Given the description of an element on the screen output the (x, y) to click on. 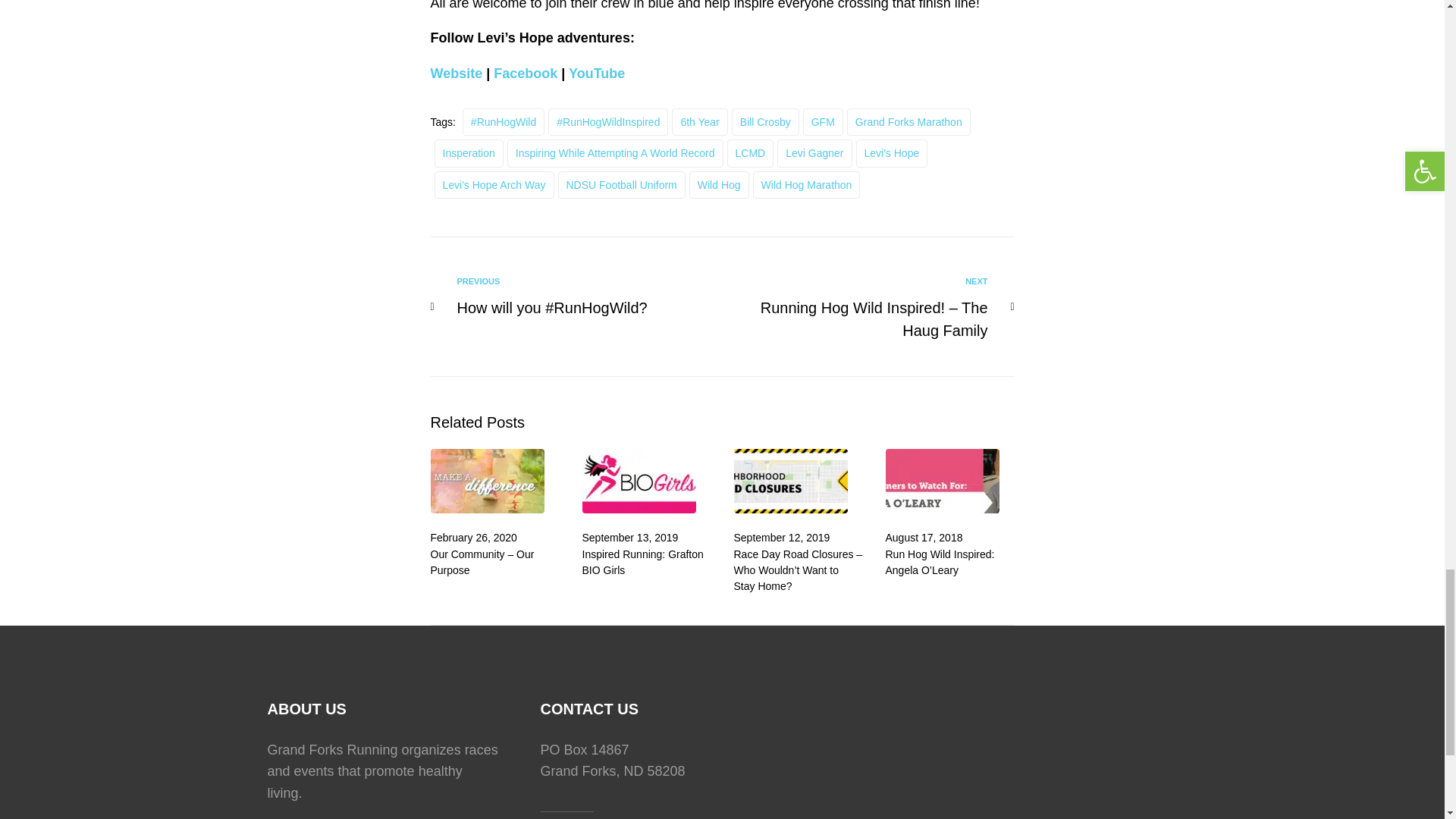
LCMD (750, 153)
Grand Forks Marathon (909, 121)
Facebook (525, 73)
Bill Crosby (765, 121)
Website (456, 73)
Levi Gagner (814, 153)
YouTube (596, 73)
GFM (823, 121)
Levi'S Hope (891, 153)
6th Year (698, 121)
Inspiring While Attempting A World Record (614, 153)
Insperation (467, 153)
